Given the description of an element on the screen output the (x, y) to click on. 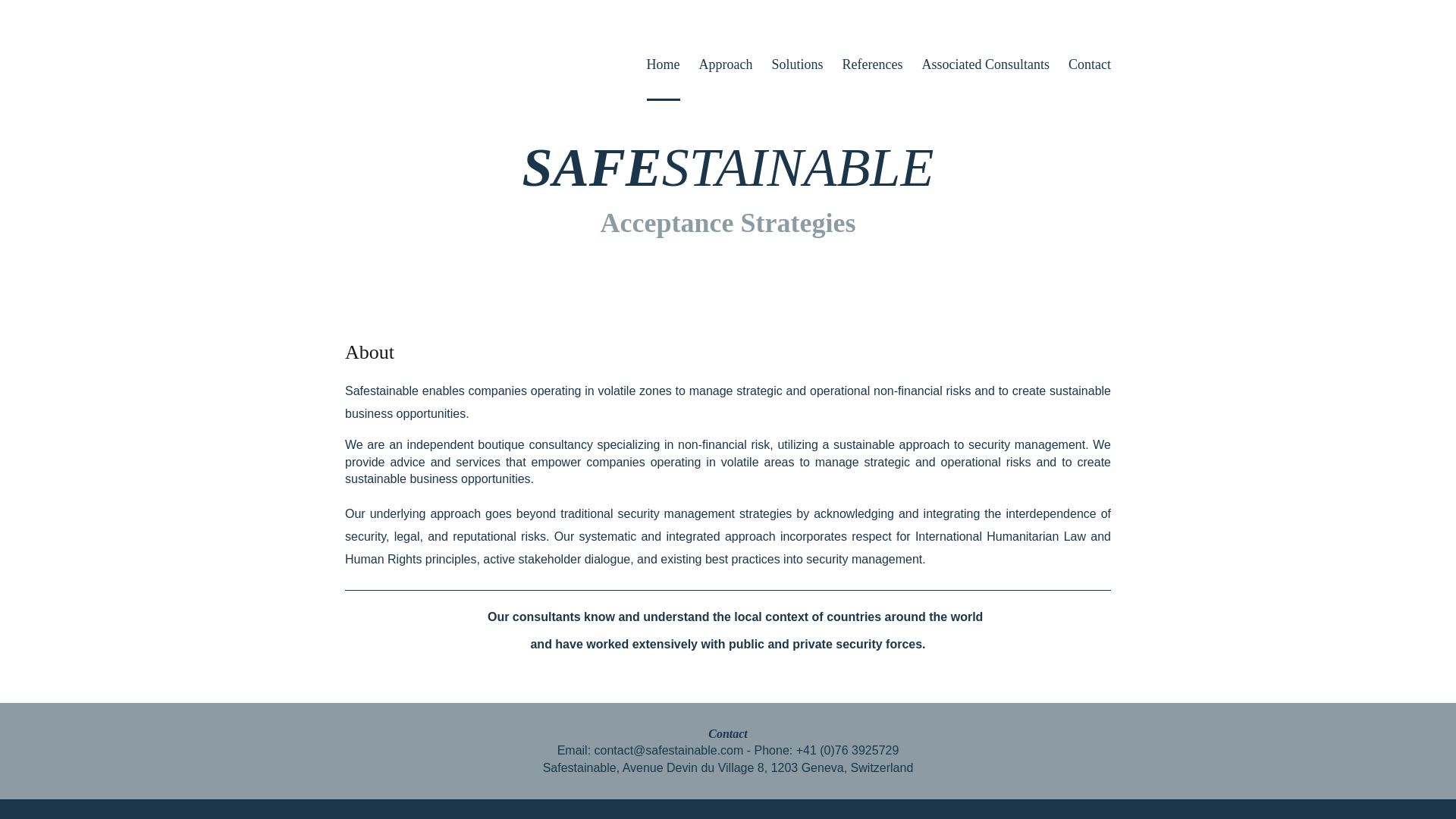
Contact (727, 733)
Associated Consultants (985, 65)
Associated Consultants (985, 65)
